Given the description of an element on the screen output the (x, y) to click on. 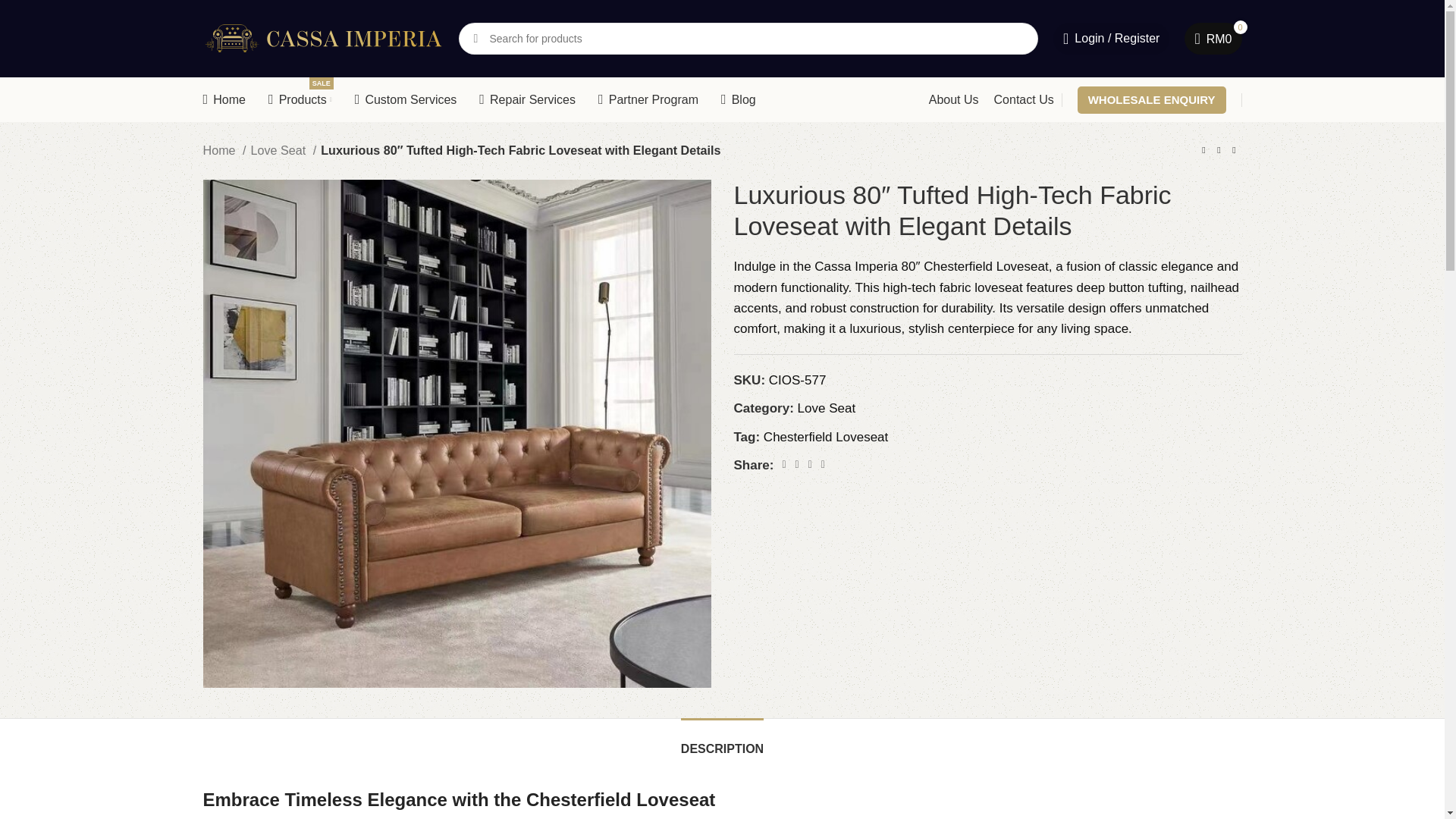
Home (224, 100)
Blog (737, 100)
WHOLESALE ENQUIRY (299, 100)
Partner Program (1151, 99)
Repair Services (648, 100)
SEARCH (527, 100)
Chesterfield Loveseat (475, 38)
Shopping cart (825, 436)
